Given the description of an element on the screen output the (x, y) to click on. 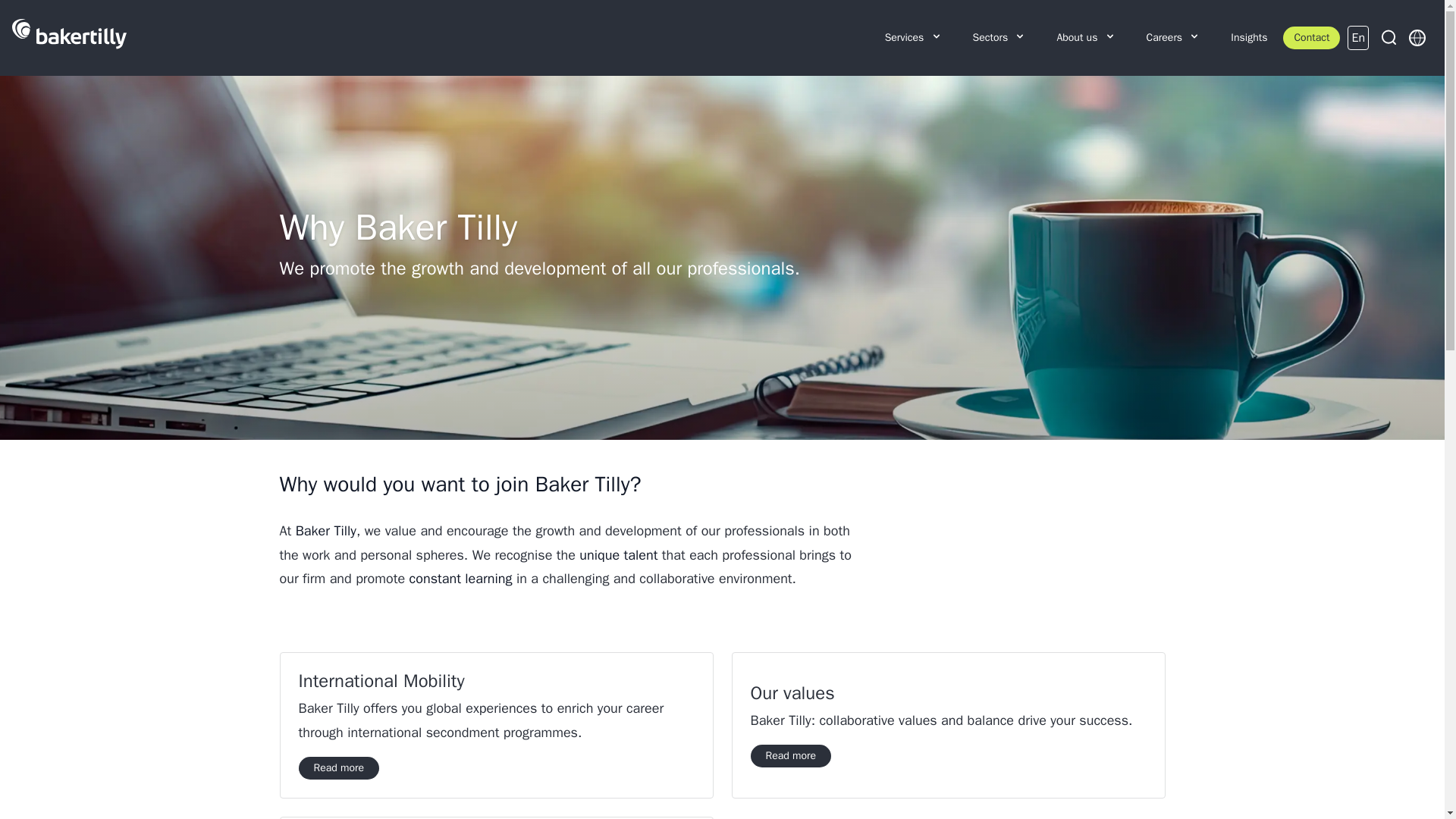
Go to the Baker Tilly Spain home page (68, 37)
Sectors (1000, 38)
Careers (1173, 38)
Services (913, 38)
About us (1086, 38)
